Given the description of an element on the screen output the (x, y) to click on. 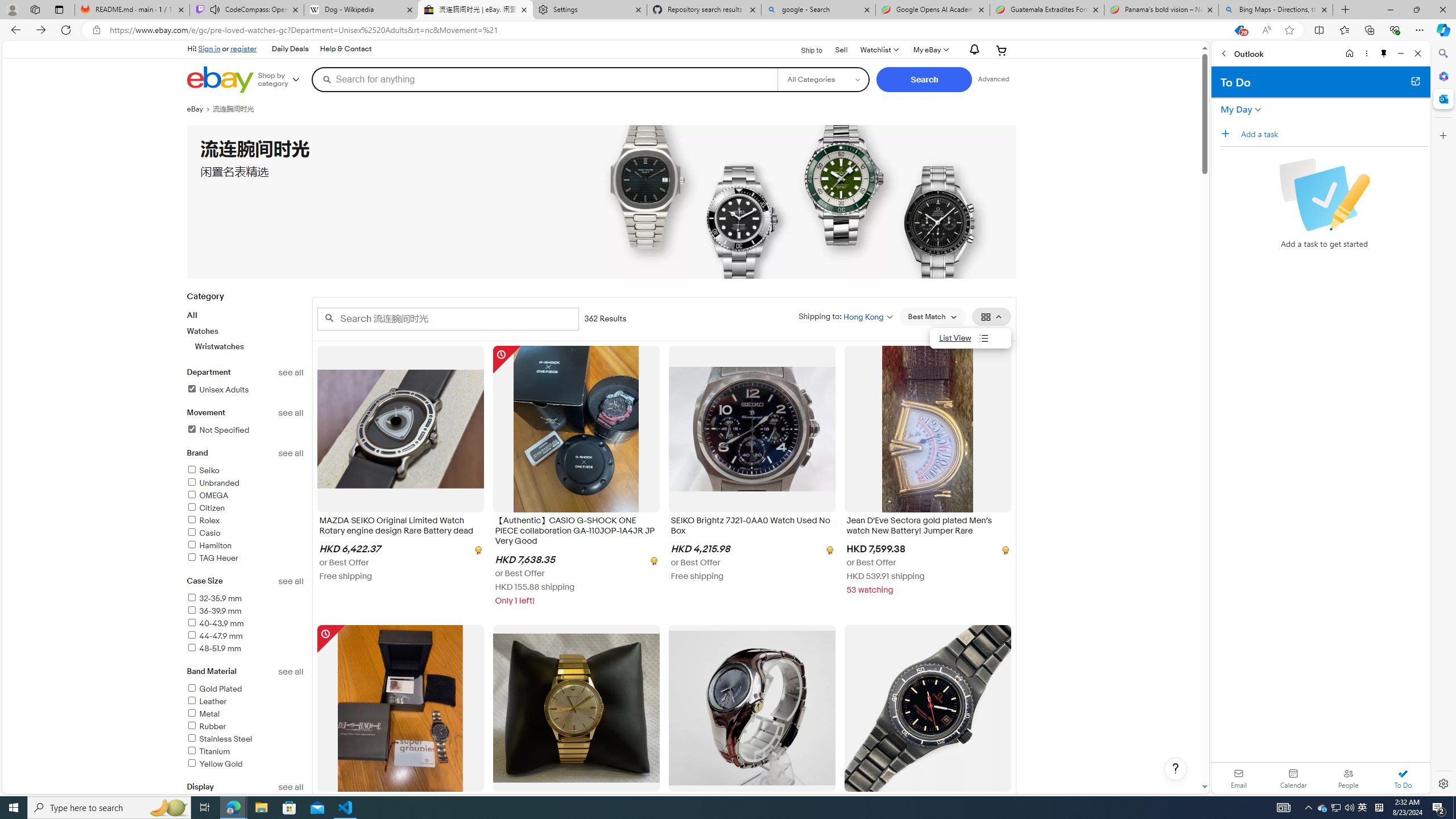
See all brand refinements (291, 452)
Rolex (245, 520)
44-47.9 mm (214, 636)
Google Opens AI Academy for Startups - Nearshore Americas (932, 9)
Not SpecifiedFilter Applied (245, 430)
See all case size refinements (291, 581)
Unpin side pane (1383, 53)
Rolex (202, 520)
36-39.9 mm (213, 610)
Side bar (1443, 418)
Expand Cart (1001, 49)
